Given the description of an element on the screen output the (x, y) to click on. 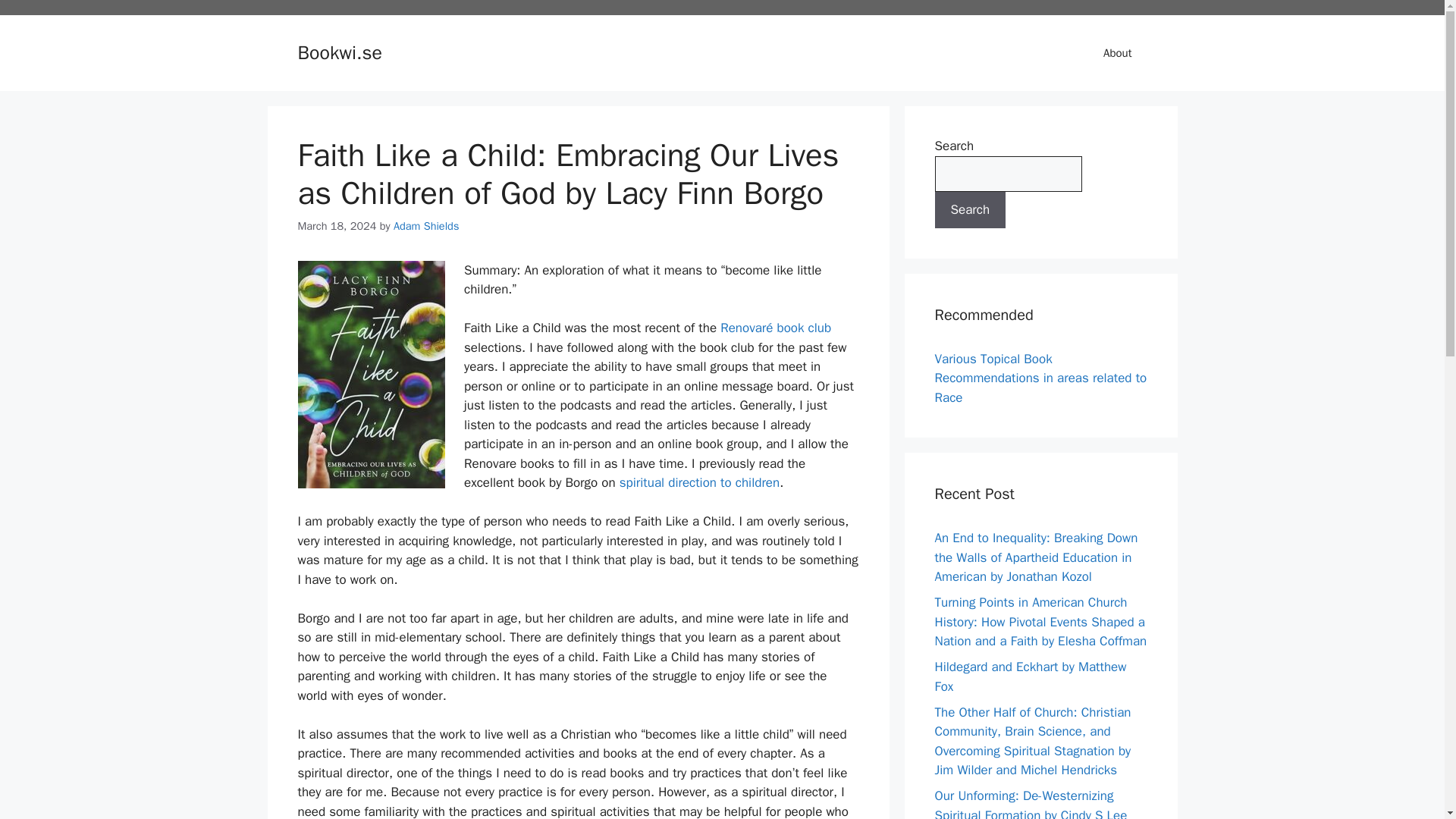
About (1117, 53)
Hildegard and Eckhart by Matthew Fox (1029, 676)
Search (970, 209)
View all posts by Adam Shields (426, 225)
spiritual direction to children (699, 482)
Bookwi.se (339, 52)
